Given the description of an element on the screen output the (x, y) to click on. 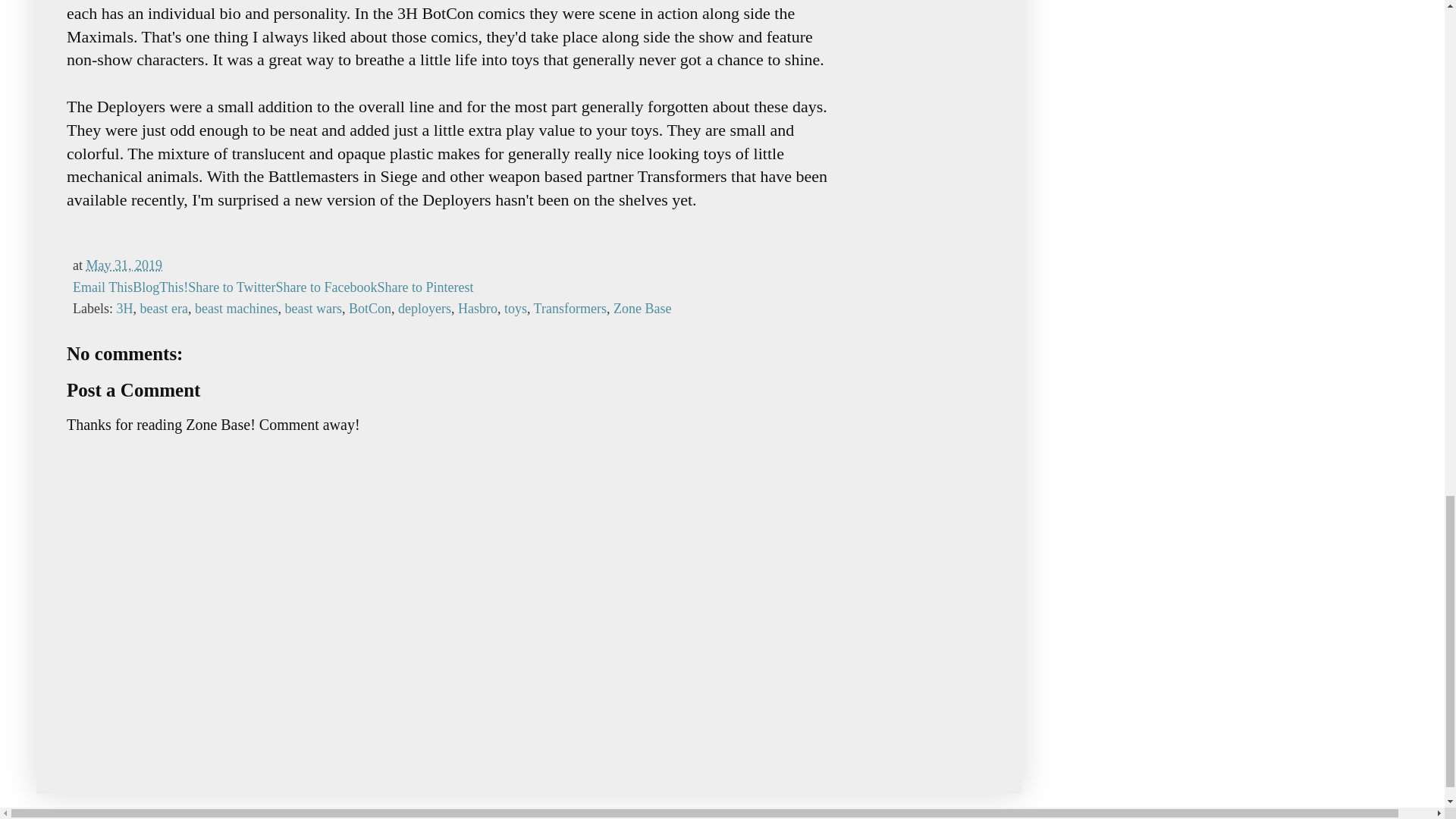
BotCon (370, 308)
BlogThis! (159, 287)
Share to Pinterest (425, 287)
Share to Facebook (326, 287)
beast machines (236, 308)
deployers (424, 308)
permanent link (124, 264)
Transformers (570, 308)
toys (515, 308)
Share to Facebook (326, 287)
Share to Pinterest (425, 287)
3H (124, 308)
beast era (163, 308)
Share to Twitter (231, 287)
Email This (102, 287)
